Given the description of an element on the screen output the (x, y) to click on. 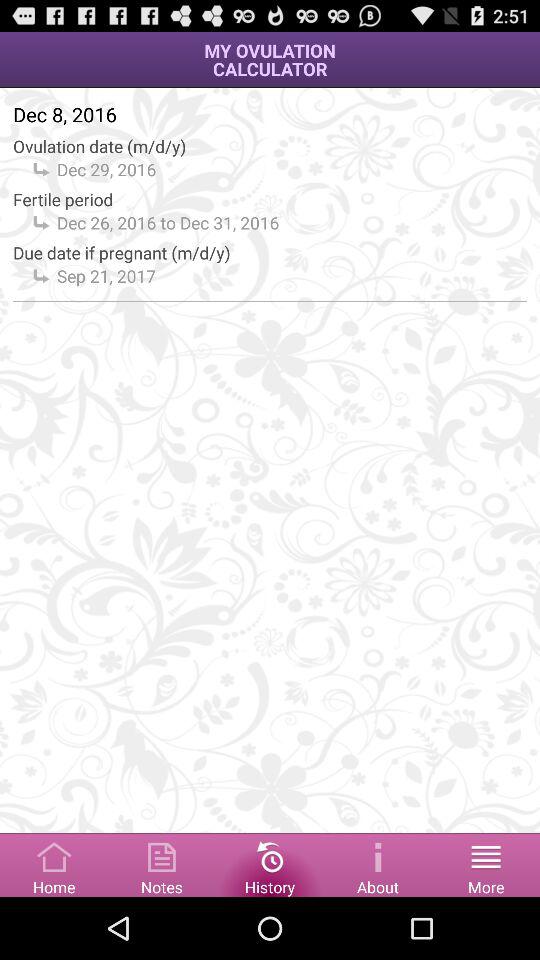
more (486, 864)
